Given the description of an element on the screen output the (x, y) to click on. 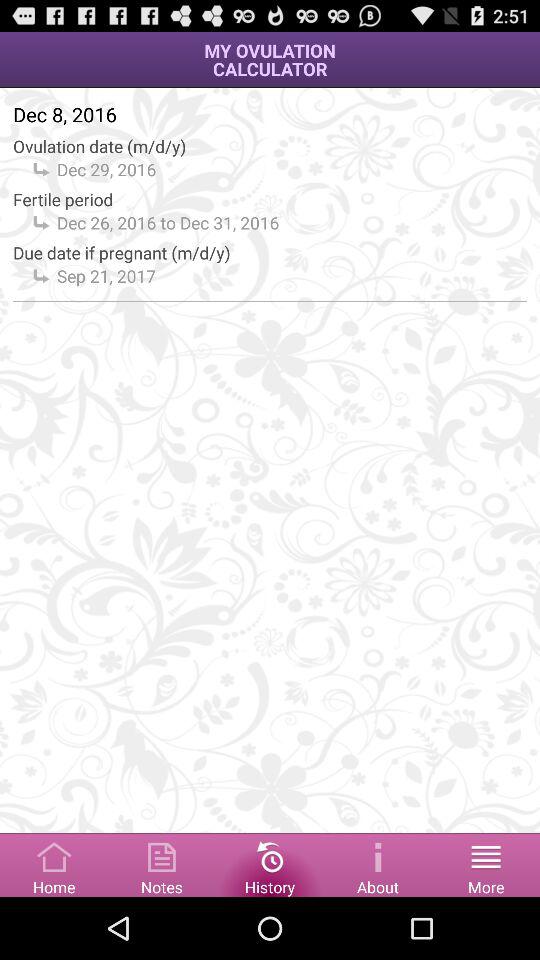
more (486, 864)
